Given the description of an element on the screen output the (x, y) to click on. 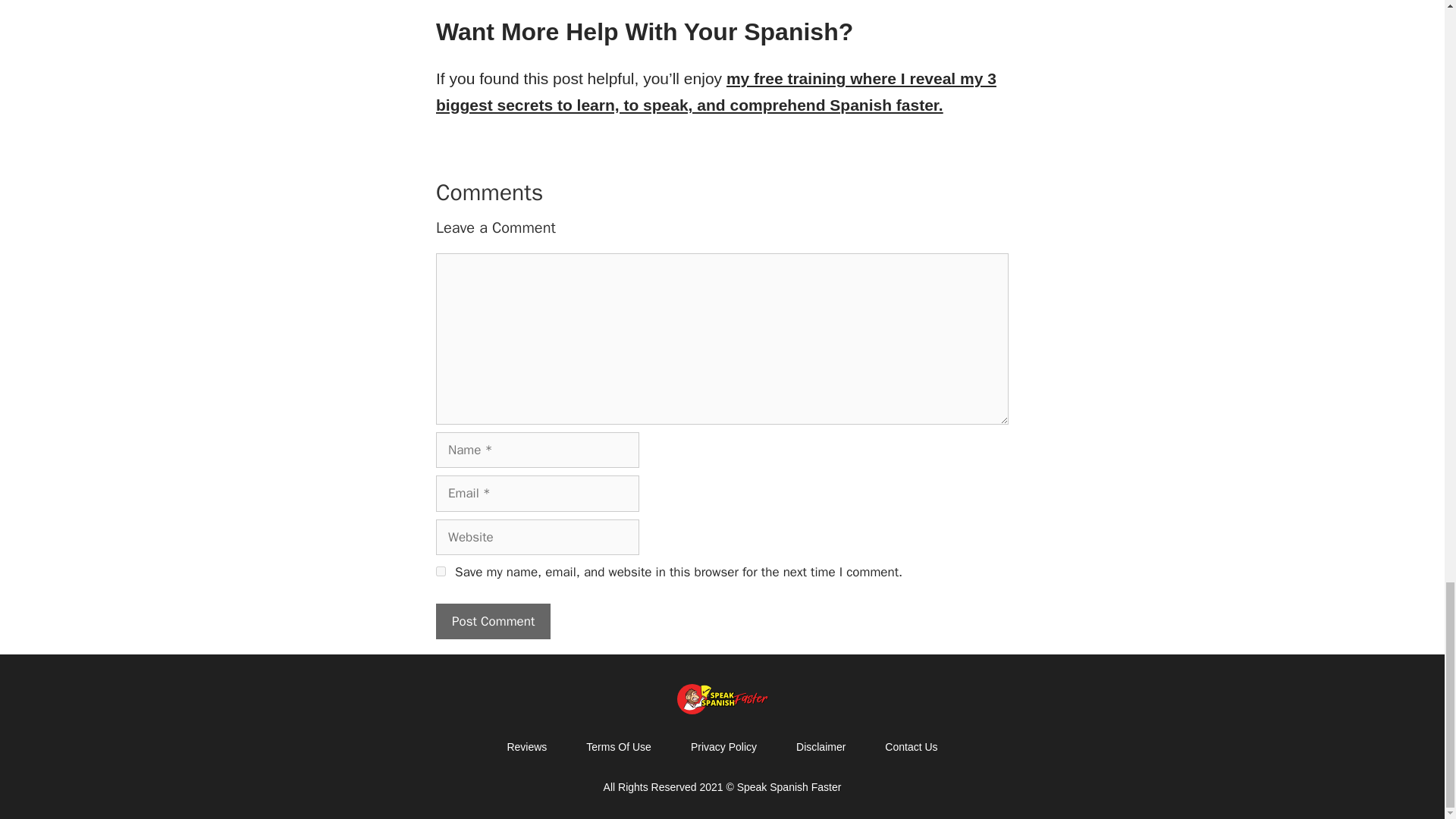
Post Comment (492, 621)
Reviews (527, 746)
Post Comment (492, 621)
Terms Of Use (618, 746)
Contact Us (910, 746)
Disclaimer (820, 746)
Privacy Policy (723, 746)
yes (440, 571)
